Given the description of an element on the screen output the (x, y) to click on. 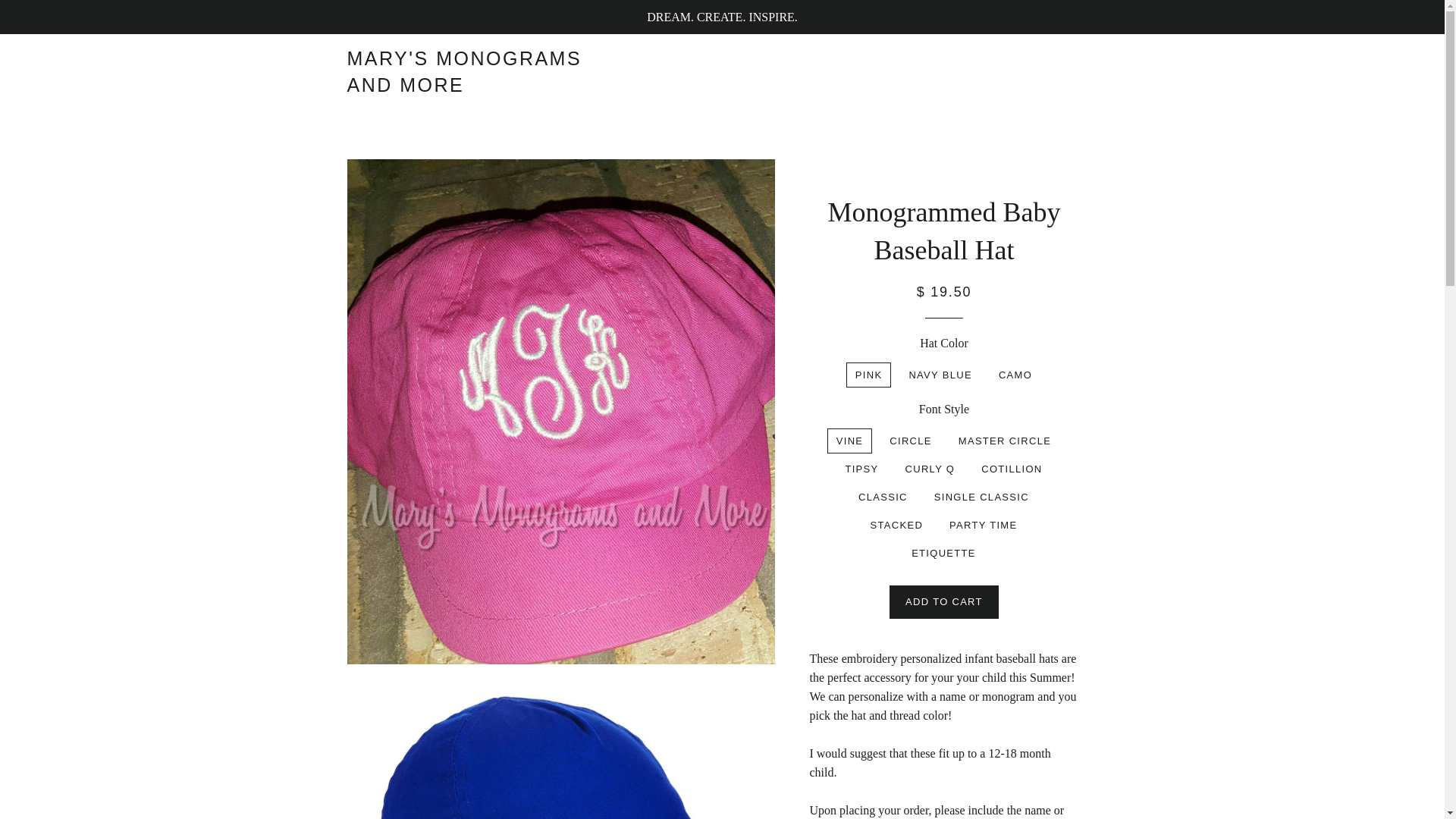
MARY'S MONOGRAMS AND MORE (471, 71)
ADD TO CART (943, 602)
